Given the description of an element on the screen output the (x, y) to click on. 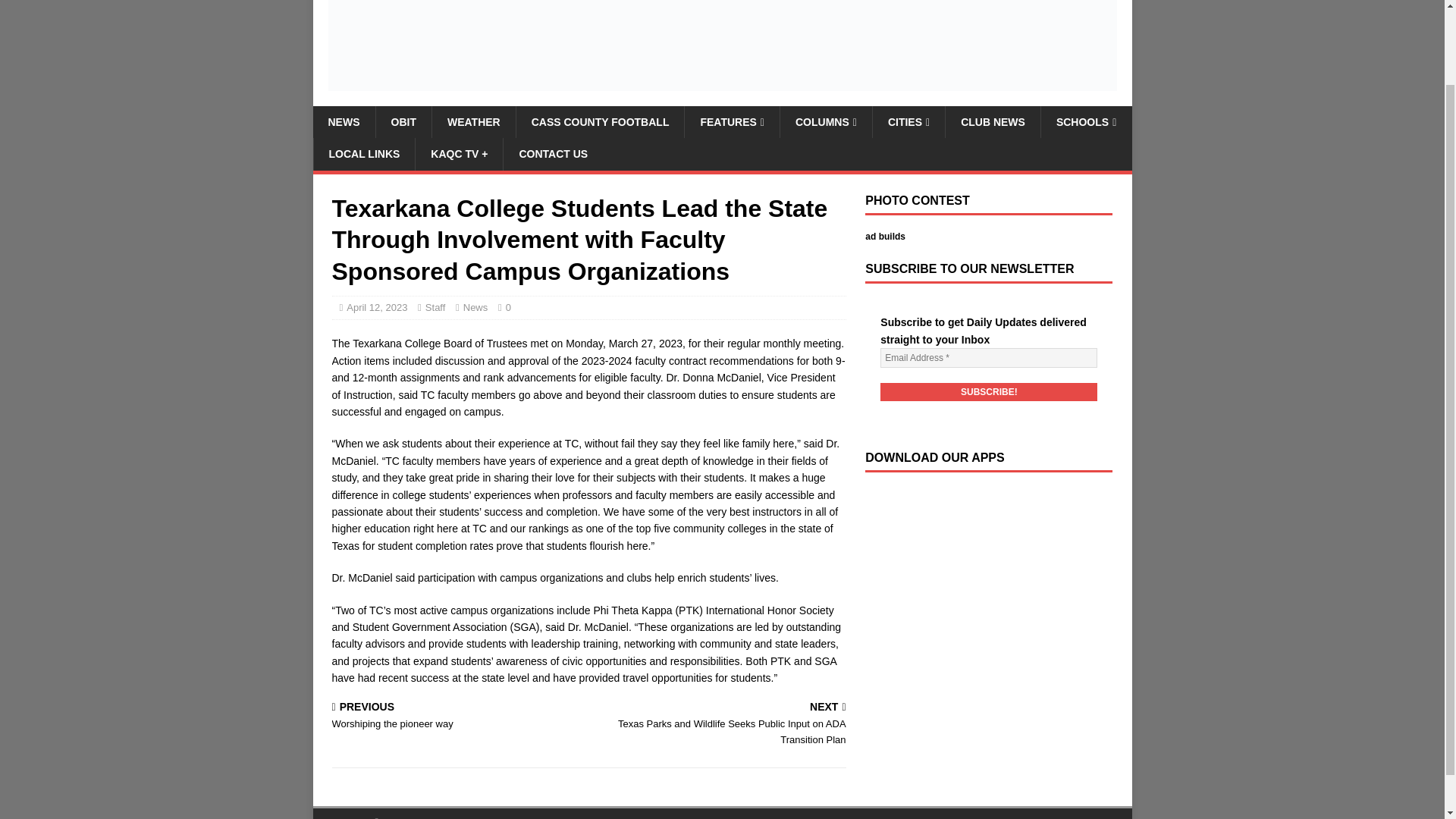
OBIT (402, 122)
Subscribe! (988, 392)
CASS COUNTY FOOTBALL (599, 122)
CONTACT US (552, 153)
Email Address (988, 357)
WEATHER (457, 716)
SCHOOLS (472, 122)
LOCAL LINKS (1086, 122)
CLUB NEWS (363, 153)
April 12, 2023 (992, 122)
FEATURES (376, 307)
Staff (731, 122)
NEWS (435, 307)
News (343, 122)
